Given the description of an element on the screen output the (x, y) to click on. 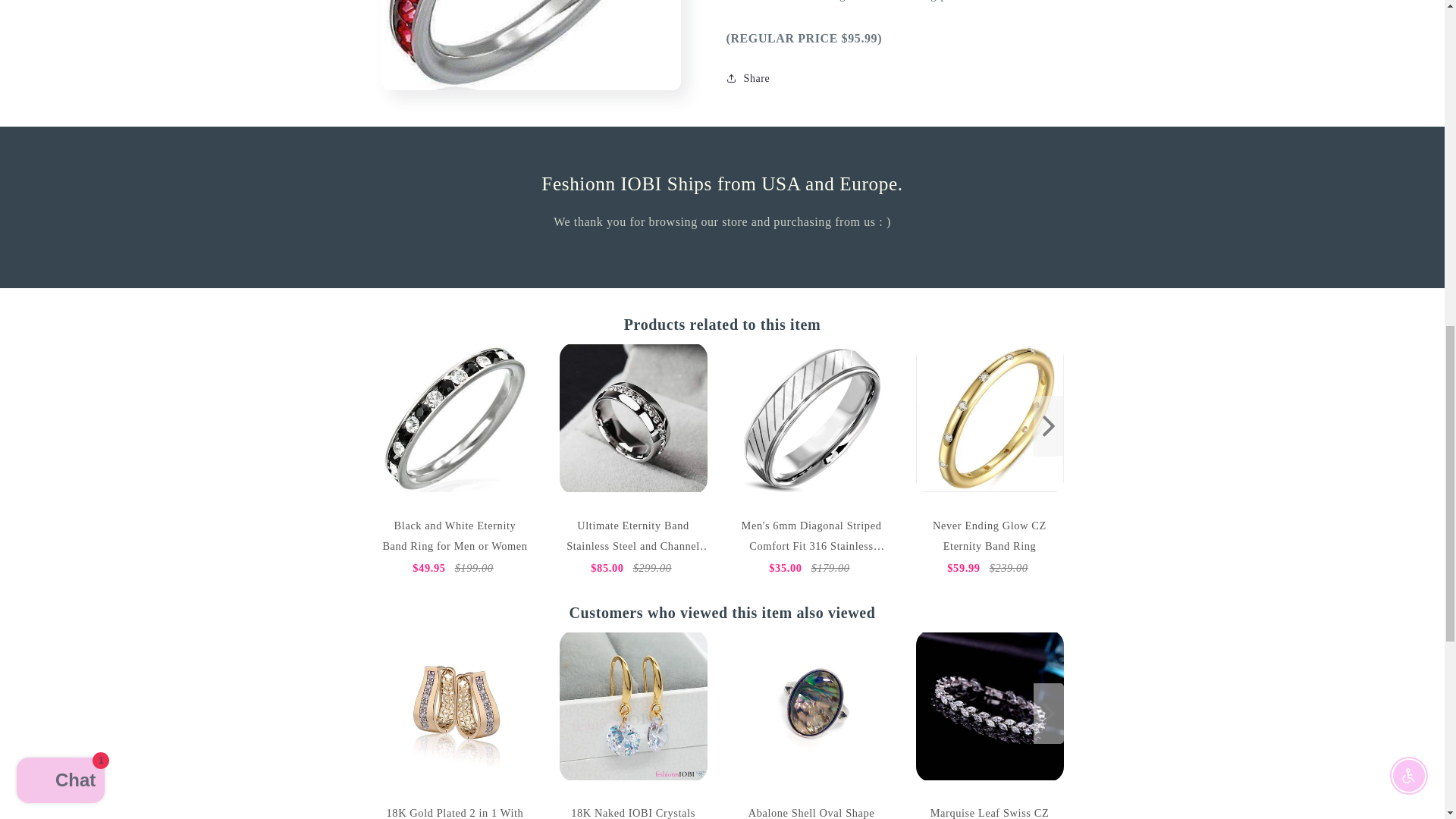
Black and White Eternity Band Ring for Men or Women (454, 418)
Never Ending Glow CZ Eternity Band Ring (989, 418)
Abalone Shell Oval Shape Ring (810, 705)
